Given the description of an element on the screen output the (x, y) to click on. 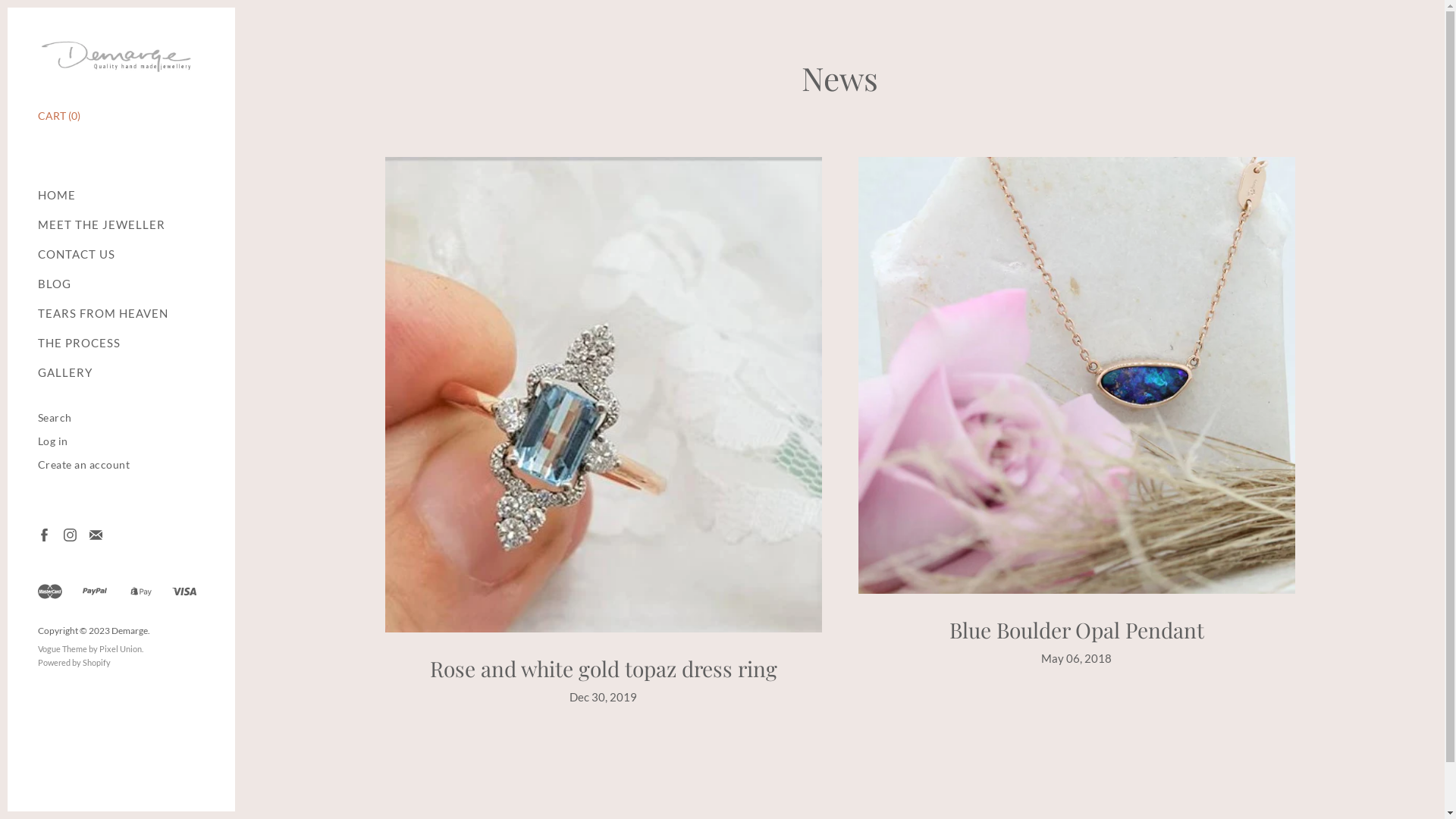
Search Element type: text (54, 417)
THE PROCESS Element type: text (78, 342)
GALLERY Element type: text (64, 372)
Log in Element type: text (52, 440)
Instagram Element type: hover (69, 534)
MEET THE JEWELLER Element type: text (101, 224)
Rose and white gold topaz dress ring Element type: text (602, 668)
TEARS FROM HEAVEN Element type: text (102, 313)
Facebook Element type: hover (43, 534)
Vogue Theme by Pixel Union Element type: text (89, 648)
BLOG Element type: text (54, 283)
Powered by Shopify Element type: text (73, 662)
CART (0) Element type: text (58, 115)
Blue Boulder Opal Pendant Element type: text (1076, 629)
Email Element type: hover (94, 534)
CONTACT US Element type: text (76, 254)
HOME Element type: text (56, 195)
Create an account Element type: text (83, 464)
